Given the description of an element on the screen output the (x, y) to click on. 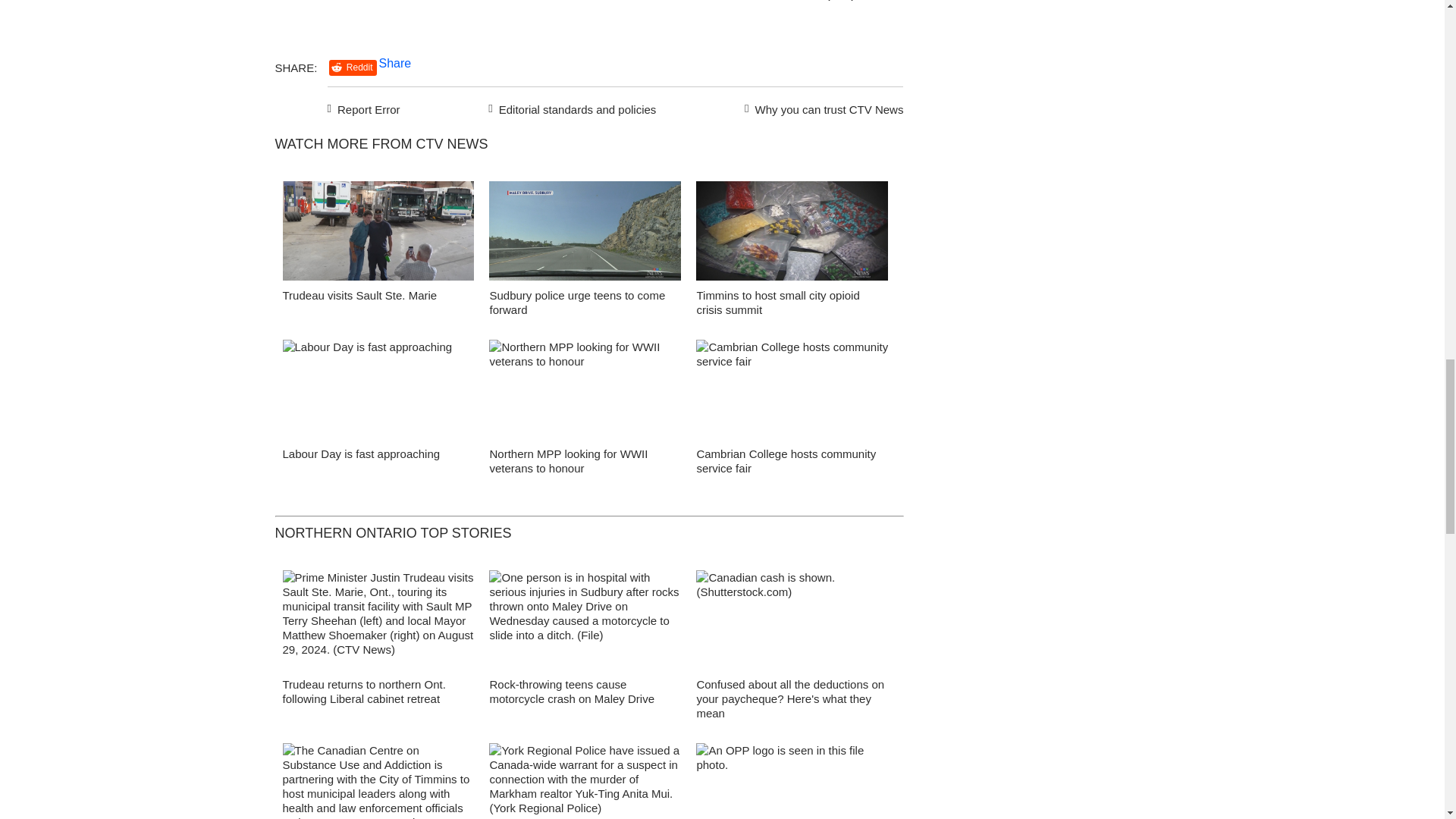
false (791, 230)
Timmins to host small city opioid crisis summit (777, 302)
false (585, 230)
false (378, 230)
Labour Day is fast approaching (360, 453)
Trudeau visits Sault Ste. Marie (359, 295)
Share (395, 62)
Reddit (353, 67)
Why you can trust CTV News (820, 107)
